Given the description of an element on the screen output the (x, y) to click on. 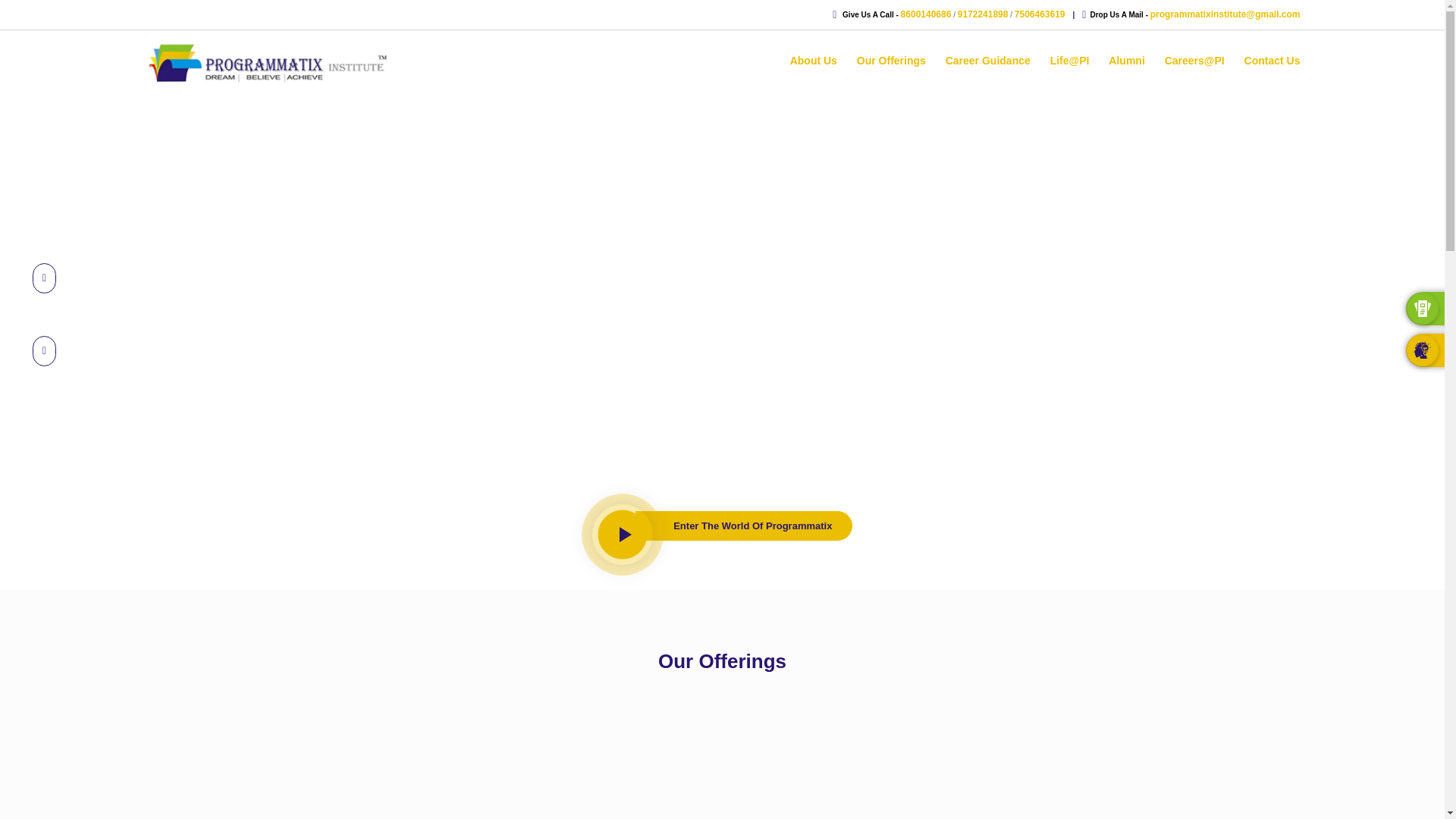
7506463619 (1039, 14)
Career Guidance (987, 64)
7506463619 (1039, 14)
Contact Us (1272, 64)
9172241898 (983, 14)
8600140686 (926, 14)
9172241898 (983, 14)
Our Offerings (891, 64)
Alumni (1126, 64)
8600140686 (926, 14)
About Us (813, 64)
